Given the description of an element on the screen output the (x, y) to click on. 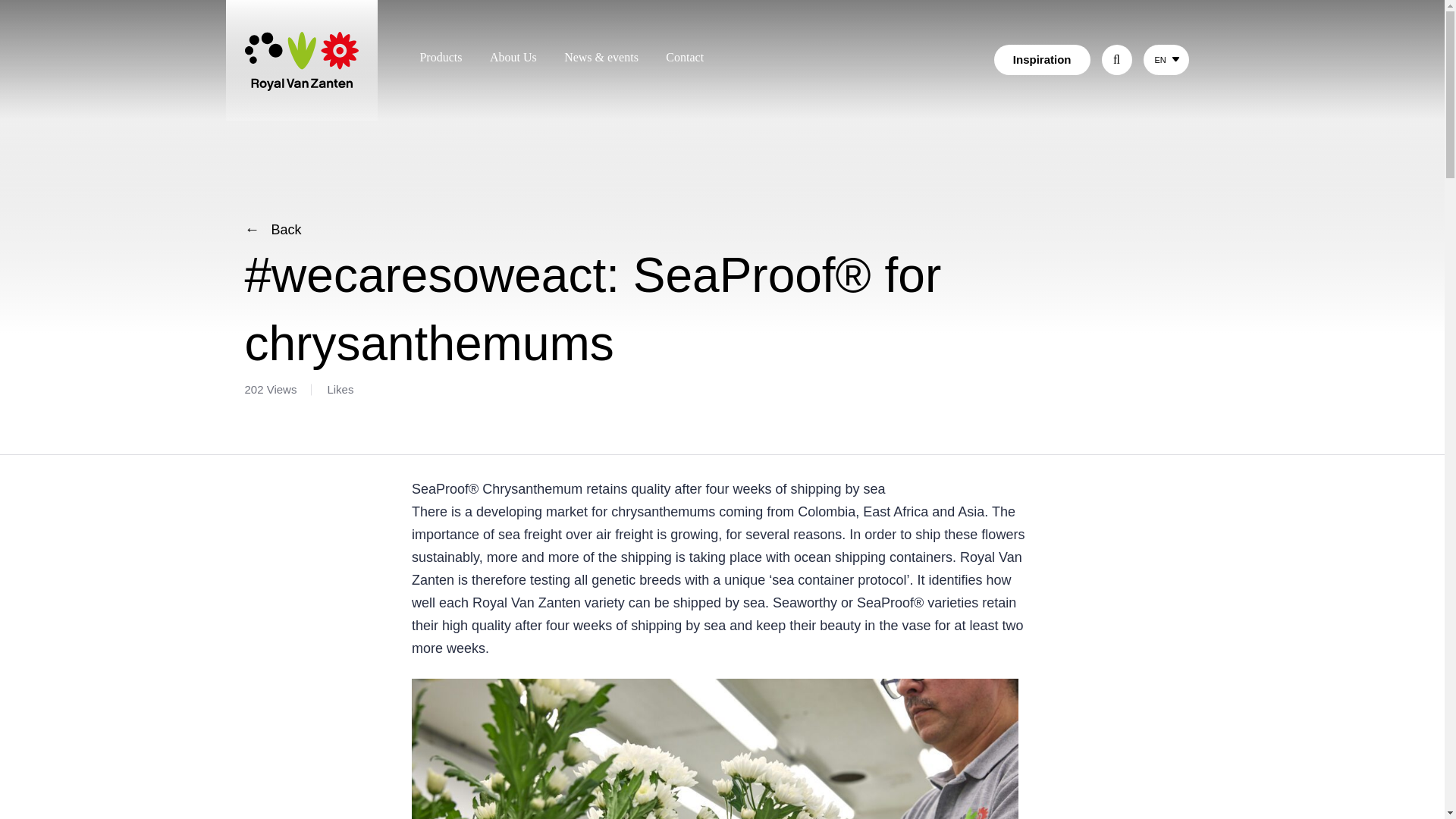
EN (1159, 60)
Contact (684, 57)
Products (440, 57)
Search (1068, 58)
About Us (513, 57)
Inspiration (1042, 60)
Back (272, 229)
